Given the description of an element on the screen output the (x, y) to click on. 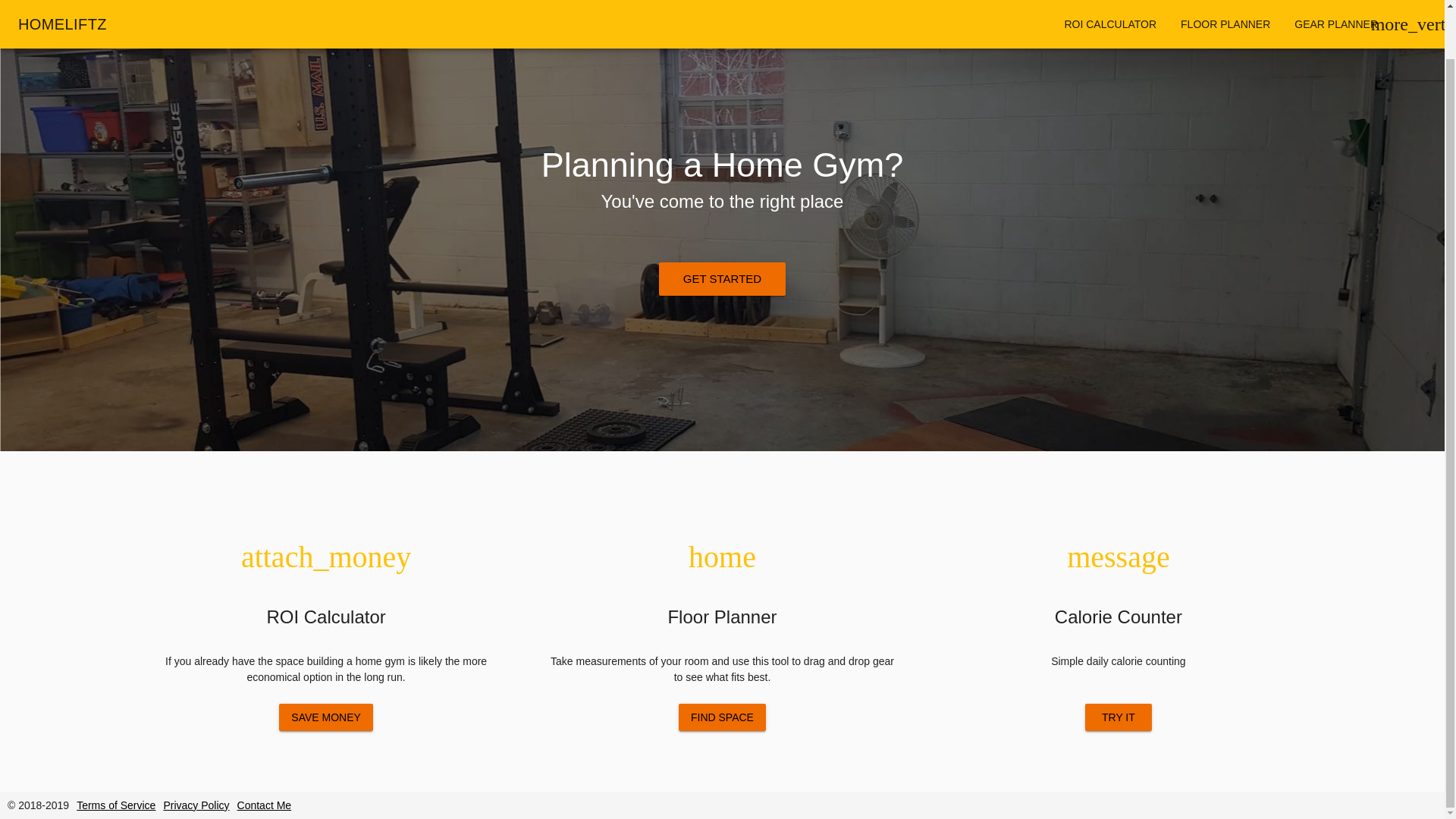
Privacy Policy (195, 804)
GET STARTED (722, 278)
Contact Me (264, 804)
FIND SPACE (721, 717)
SAVE MONEY (325, 717)
TRY IT (1117, 717)
Terms of Service (116, 804)
